Given the description of an element on the screen output the (x, y) to click on. 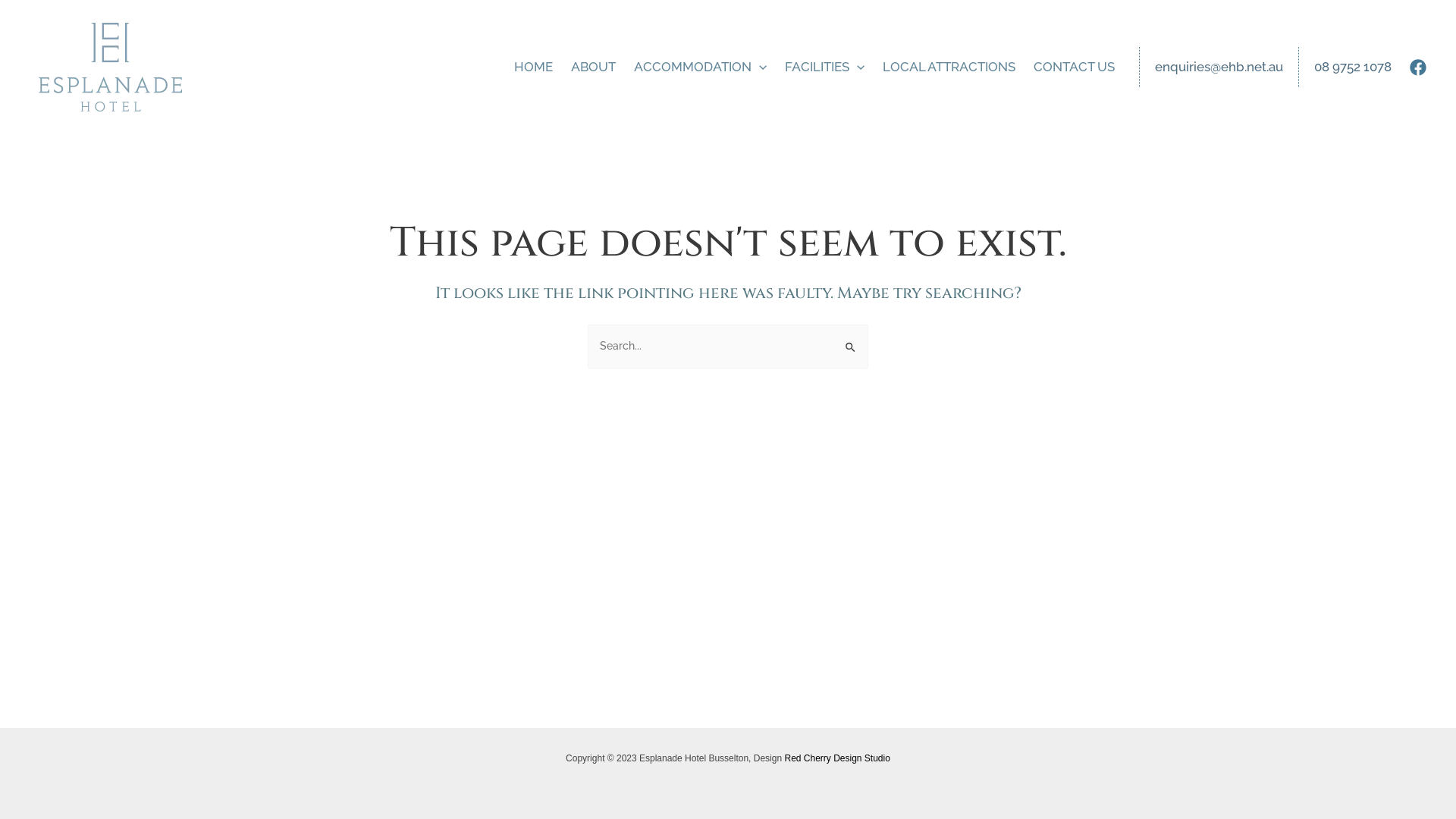
ABOUT Element type: text (592, 67)
ACCOMMODATION Element type: text (699, 67)
FACILITIES Element type: text (824, 67)
Search Element type: text (851, 339)
Red Cherry Design Studio Element type: text (836, 758)
enquiries@ehb.net.au Element type: text (1218, 66)
HOME Element type: text (533, 67)
CONTACT US Element type: text (1073, 67)
08 9752 1078 Element type: text (1352, 66)
LOCAL ATTRACTIONS Element type: text (948, 67)
